Given the description of an element on the screen output the (x, y) to click on. 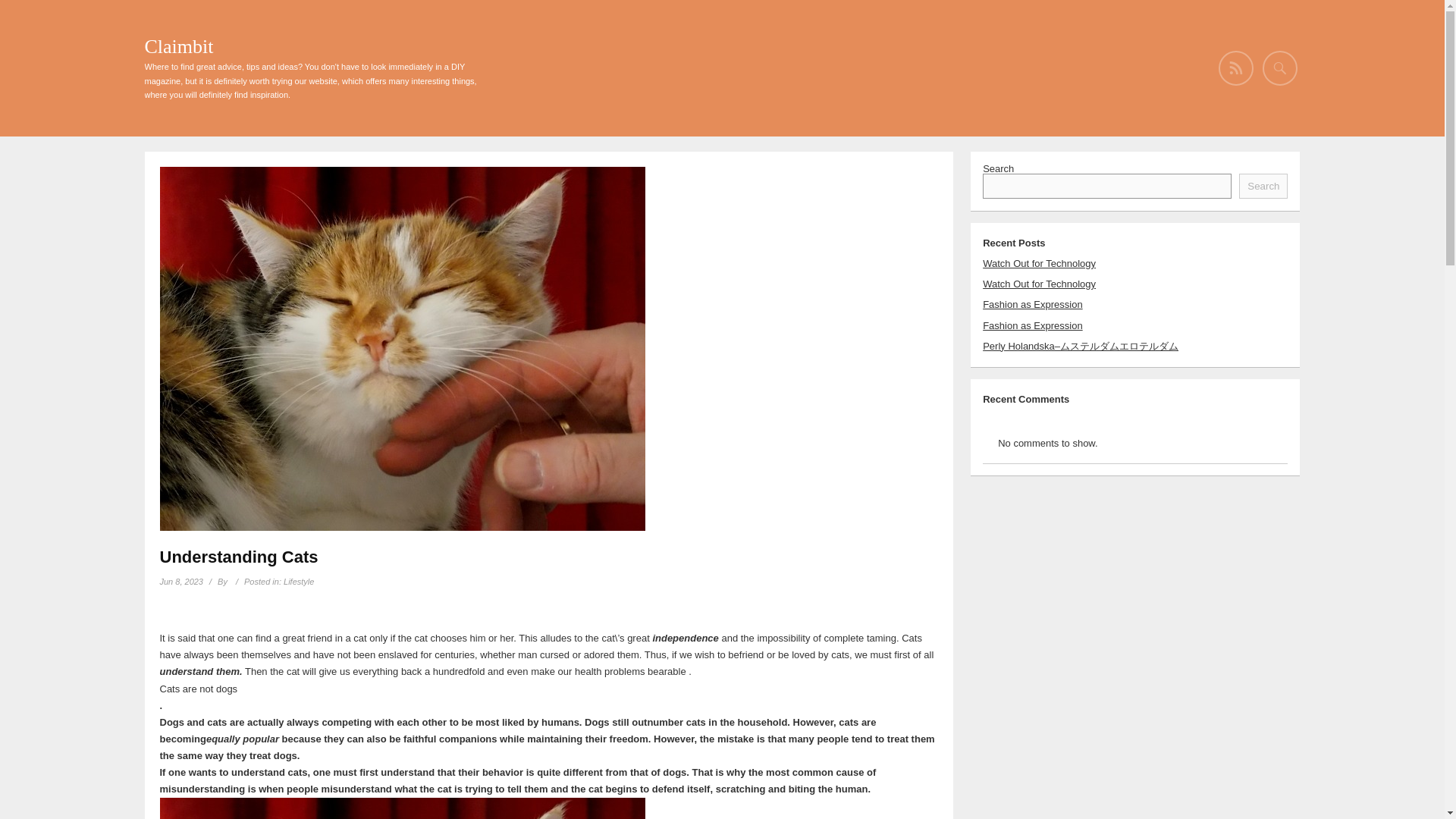
Watch Out for Technology (1039, 283)
Fashion as Expression (1032, 325)
Jun 8, 2023 (180, 581)
00:12 (180, 581)
Lifestyle (298, 581)
Watch Out for Technology (1039, 263)
Fashion as Expression (1032, 304)
Search (1263, 186)
Search (22, 12)
Claimbit (178, 46)
